Given the description of an element on the screen output the (x, y) to click on. 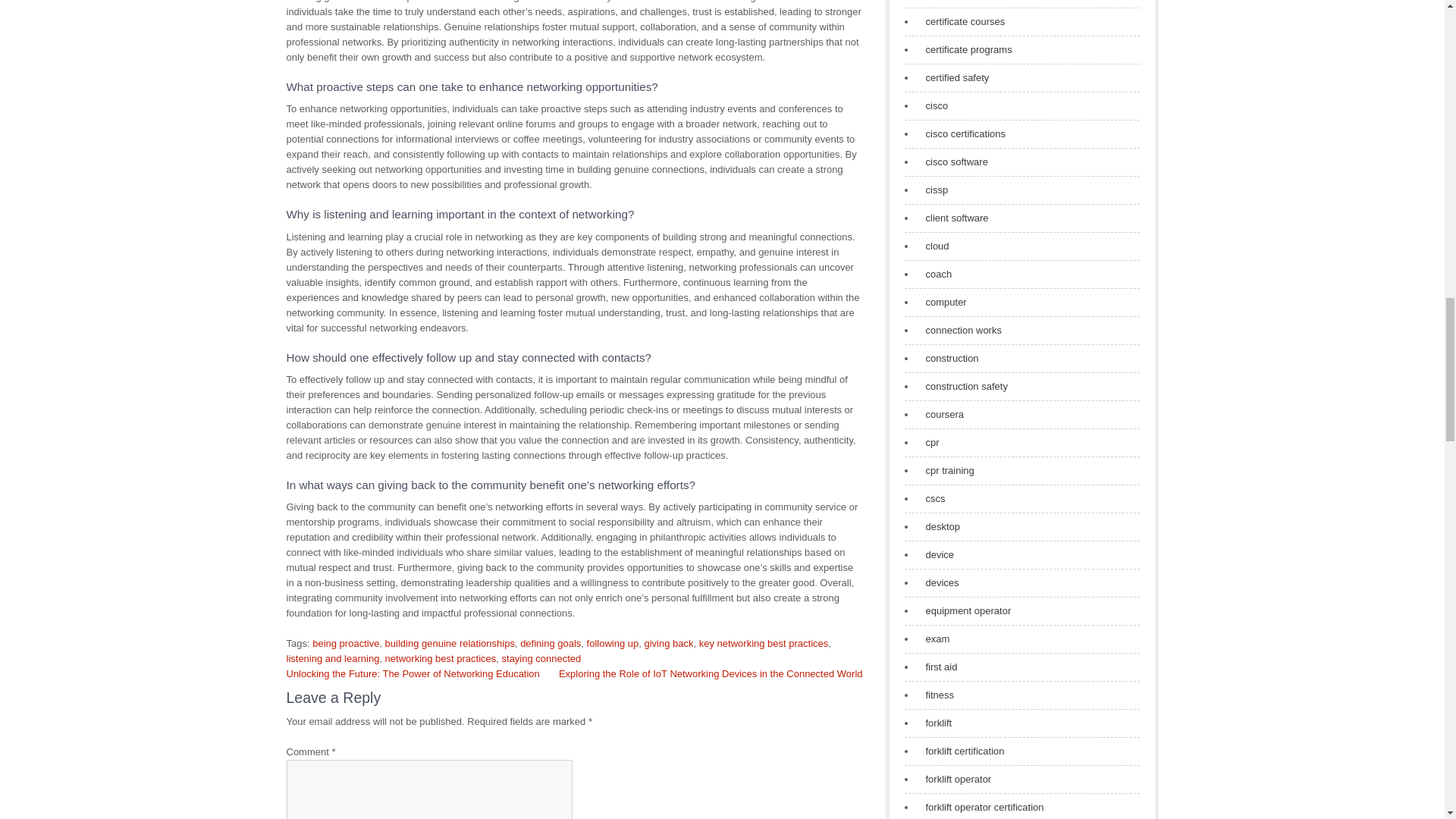
giving back (668, 643)
networking best practices (440, 658)
key networking best practices (763, 643)
following up (612, 643)
defining goals (549, 643)
being proactive (345, 643)
building genuine relationships (450, 643)
listening and learning (333, 658)
Unlocking the Future: The Power of Networking Education (413, 673)
staying connected (541, 658)
